Given the description of an element on the screen output the (x, y) to click on. 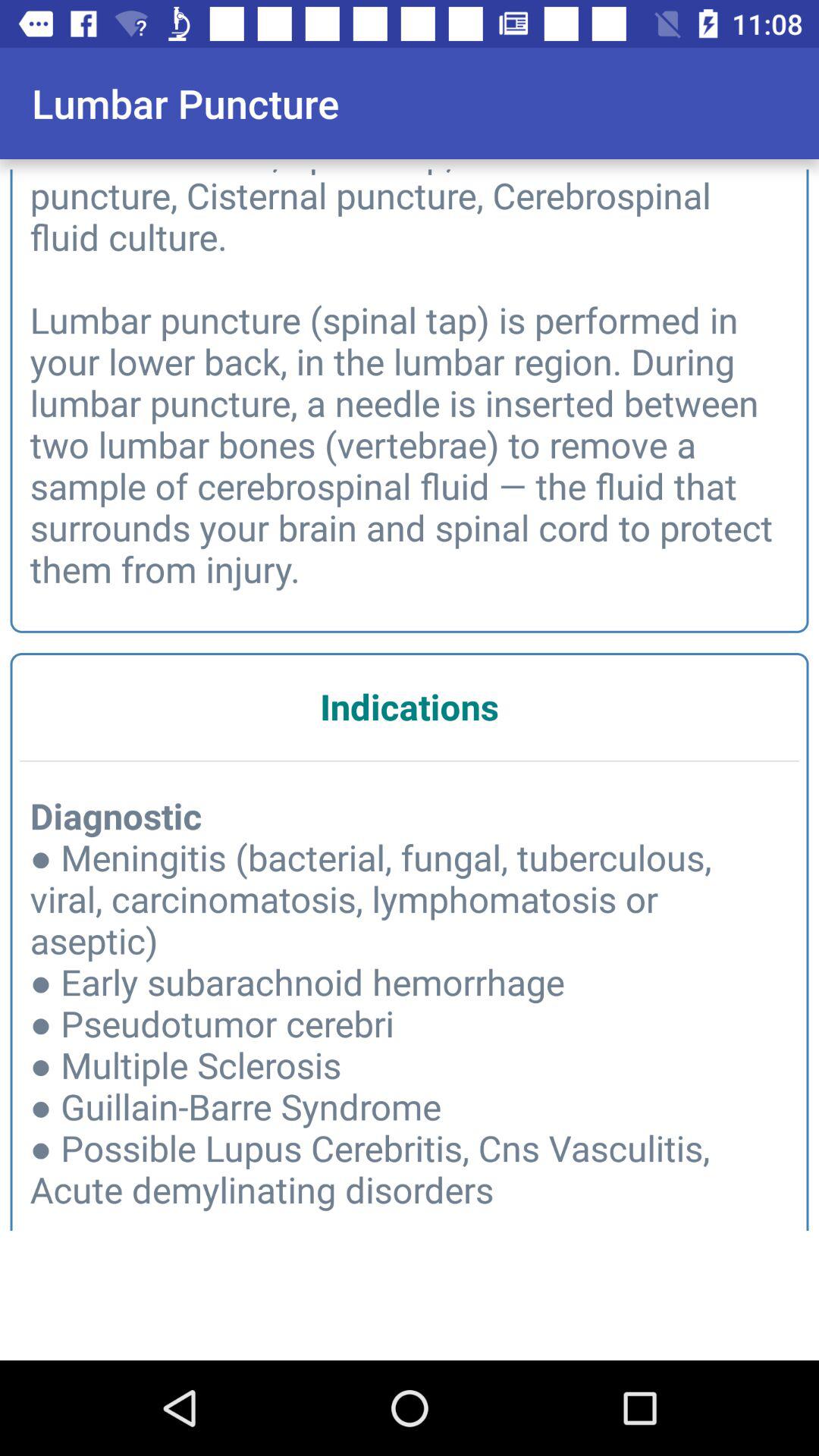
select indications icon (409, 706)
